Given the description of an element on the screen output the (x, y) to click on. 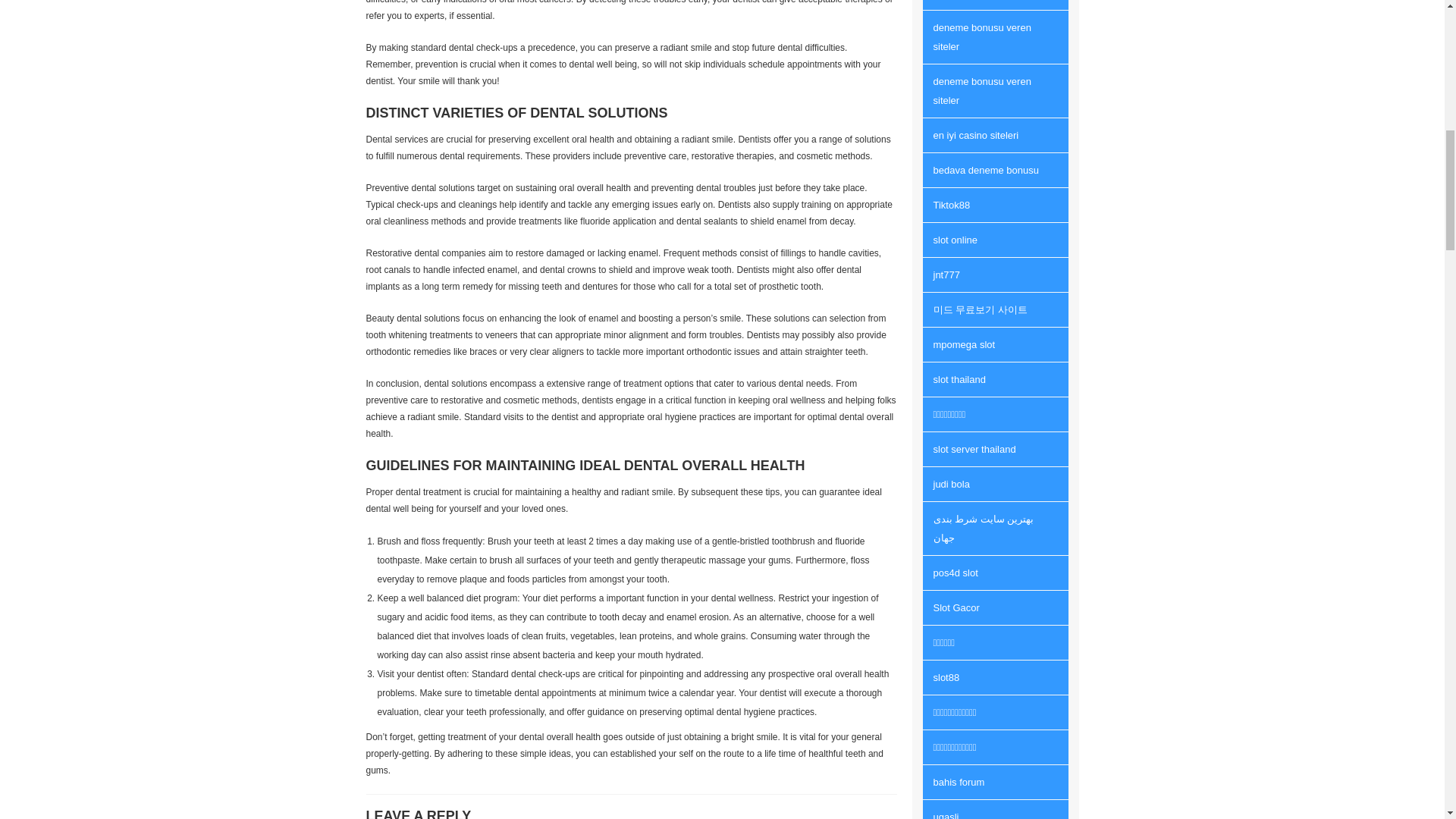
Tiktok88 (994, 204)
jnt777 (994, 274)
mpomega slot (994, 344)
slot online (994, 239)
slot thailand (994, 379)
deneme bonusu veren siteler (994, 36)
en iyi casino siteleri (994, 134)
bedava deneme bonusu (994, 170)
deneme bonusu veren siteler (994, 90)
slot server thailand (994, 449)
jnt777 (994, 4)
